Given the description of an element on the screen output the (x, y) to click on. 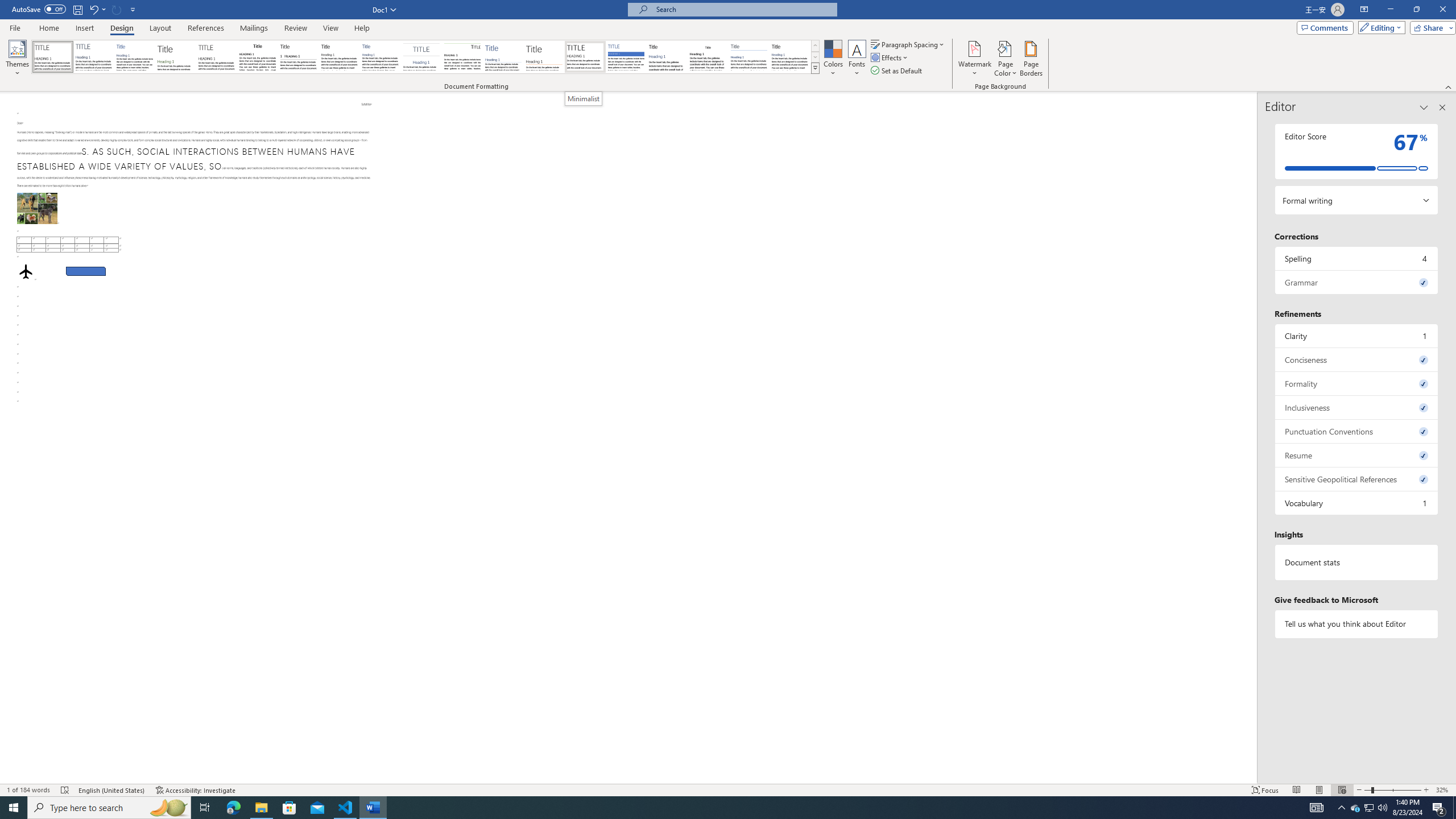
Resume, 0 issues. Press space or enter to review items. (1356, 454)
Word Count 1 of 184 words (28, 790)
Black & White (Word 2013) (338, 56)
Centered (421, 56)
Lines (Stylish) (544, 56)
Can't Repeat (117, 9)
Basic (Elegant) (93, 56)
